Given the description of an element on the screen output the (x, y) to click on. 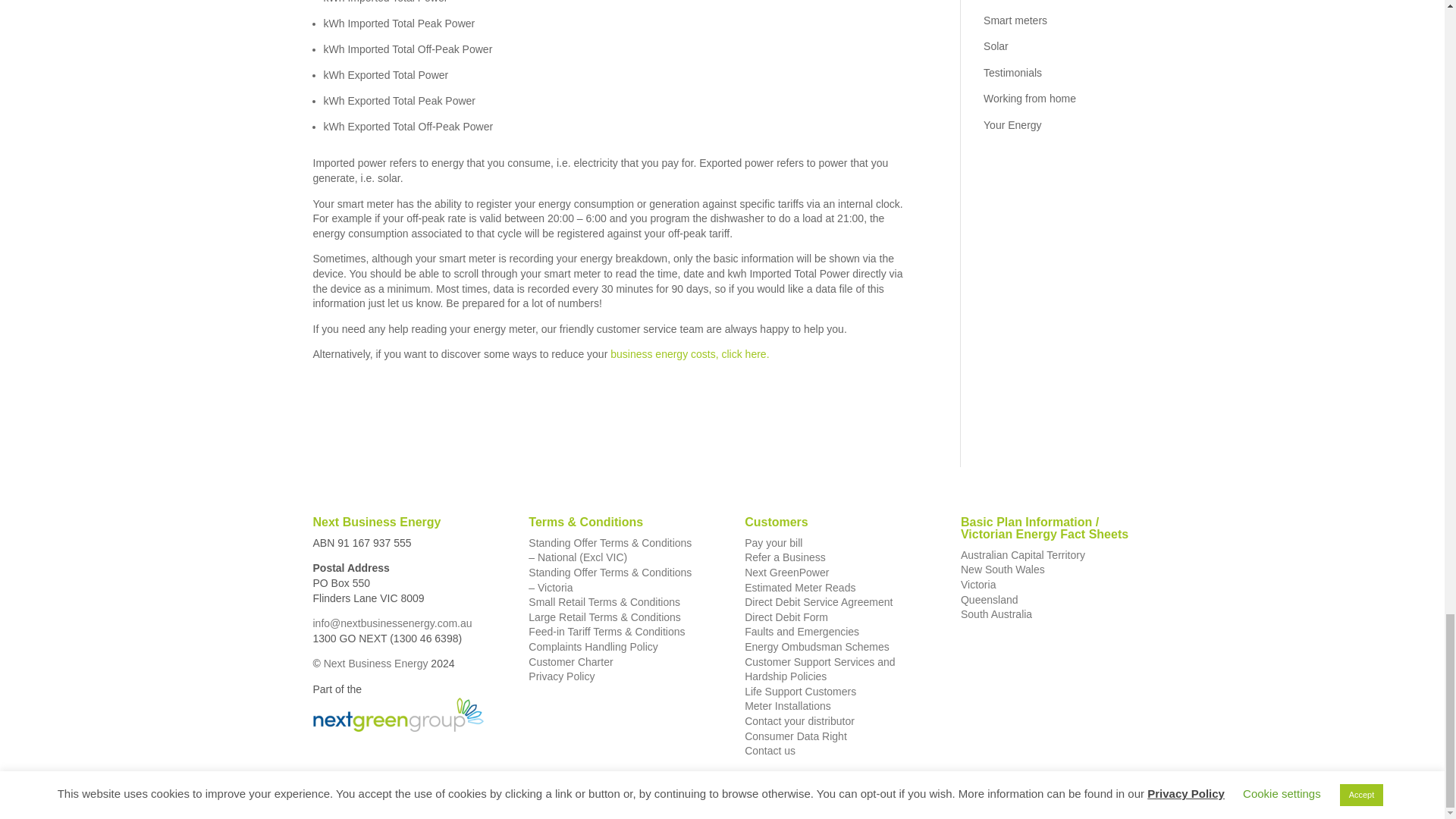
business energy costs, click here. (687, 354)
